Given the description of an element on the screen output the (x, y) to click on. 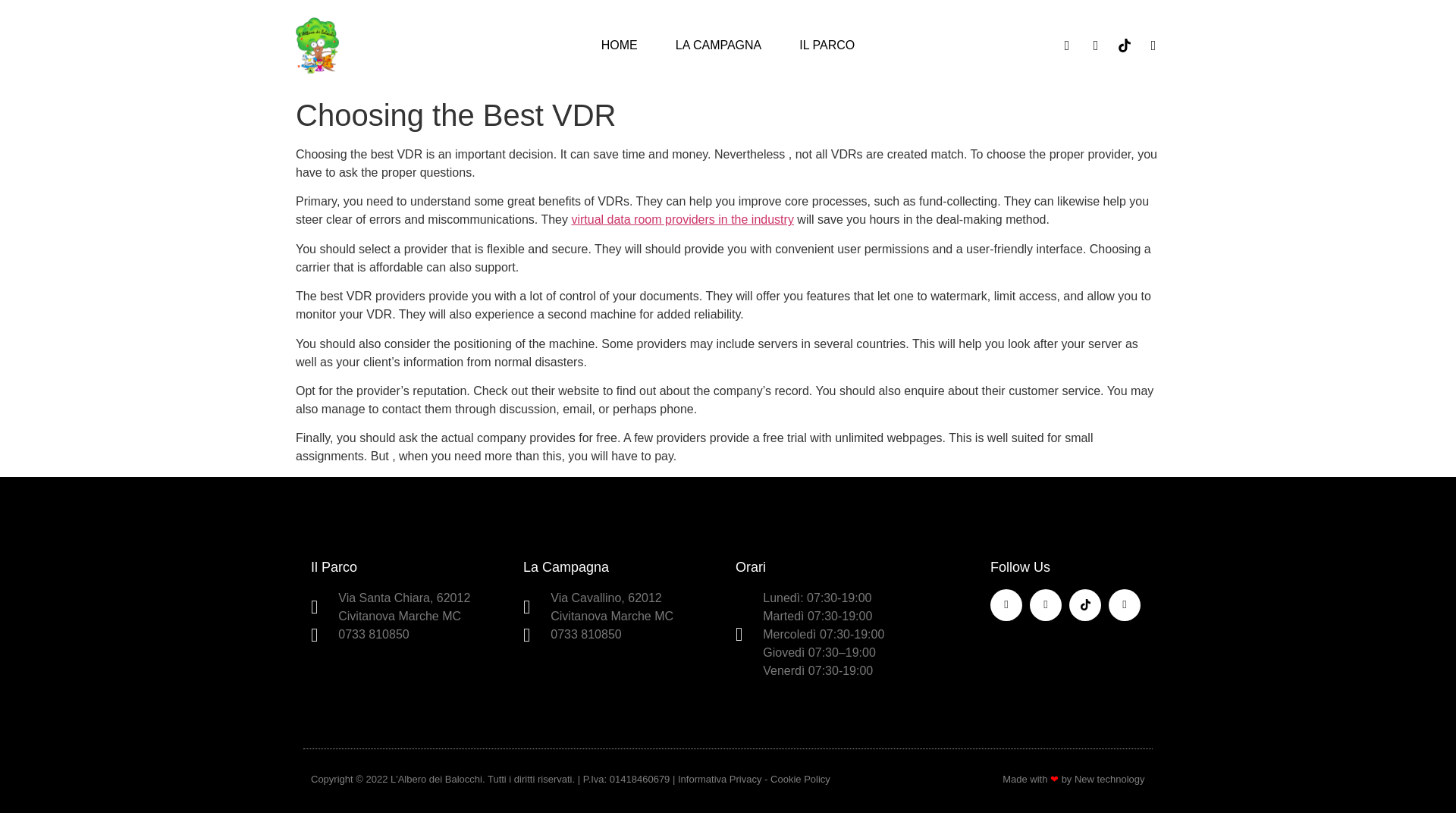
New technology (1109, 778)
Cookie Policy (799, 778)
virtual data room providers in the industry (681, 219)
HOME (619, 45)
LA CAMPAGNA (718, 45)
Informativa Privacy (719, 778)
IL PARCO (826, 45)
